Given the description of an element on the screen output the (x, y) to click on. 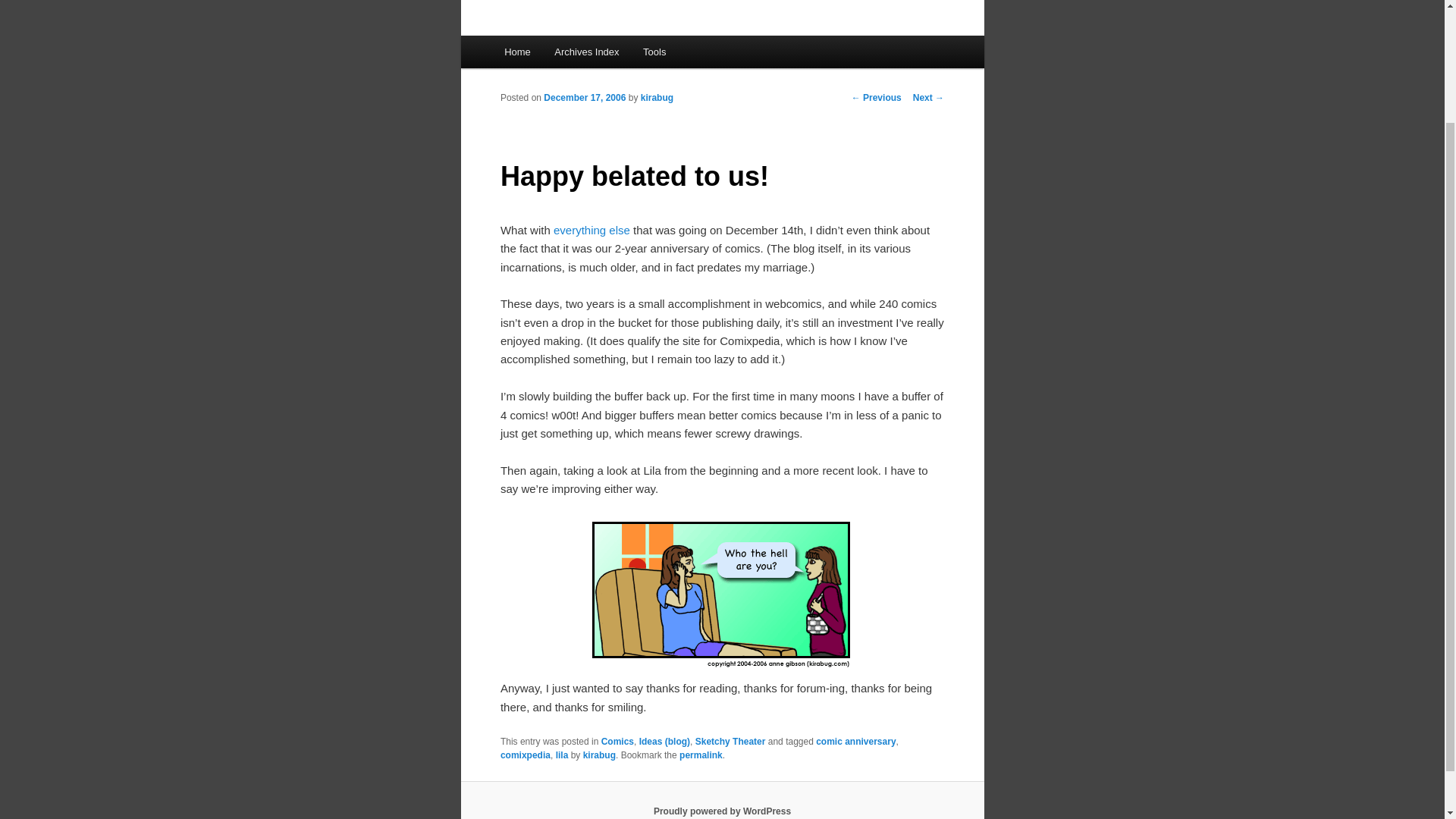
Sketchy Theater (730, 741)
kirabug (599, 755)
Home (516, 51)
comixpedia (525, 755)
Semantic Personal Publishing Platform (721, 810)
everything else (591, 229)
lila (562, 755)
Permalink to Happy belated to us! (700, 755)
permalink (700, 755)
December 17, 2006 (584, 97)
Proudly powered by WordPress (721, 810)
Archives Index (587, 51)
Comics (617, 741)
kirabug (656, 97)
View all posts by kirabug (656, 97)
